Given the description of an element on the screen output the (x, y) to click on. 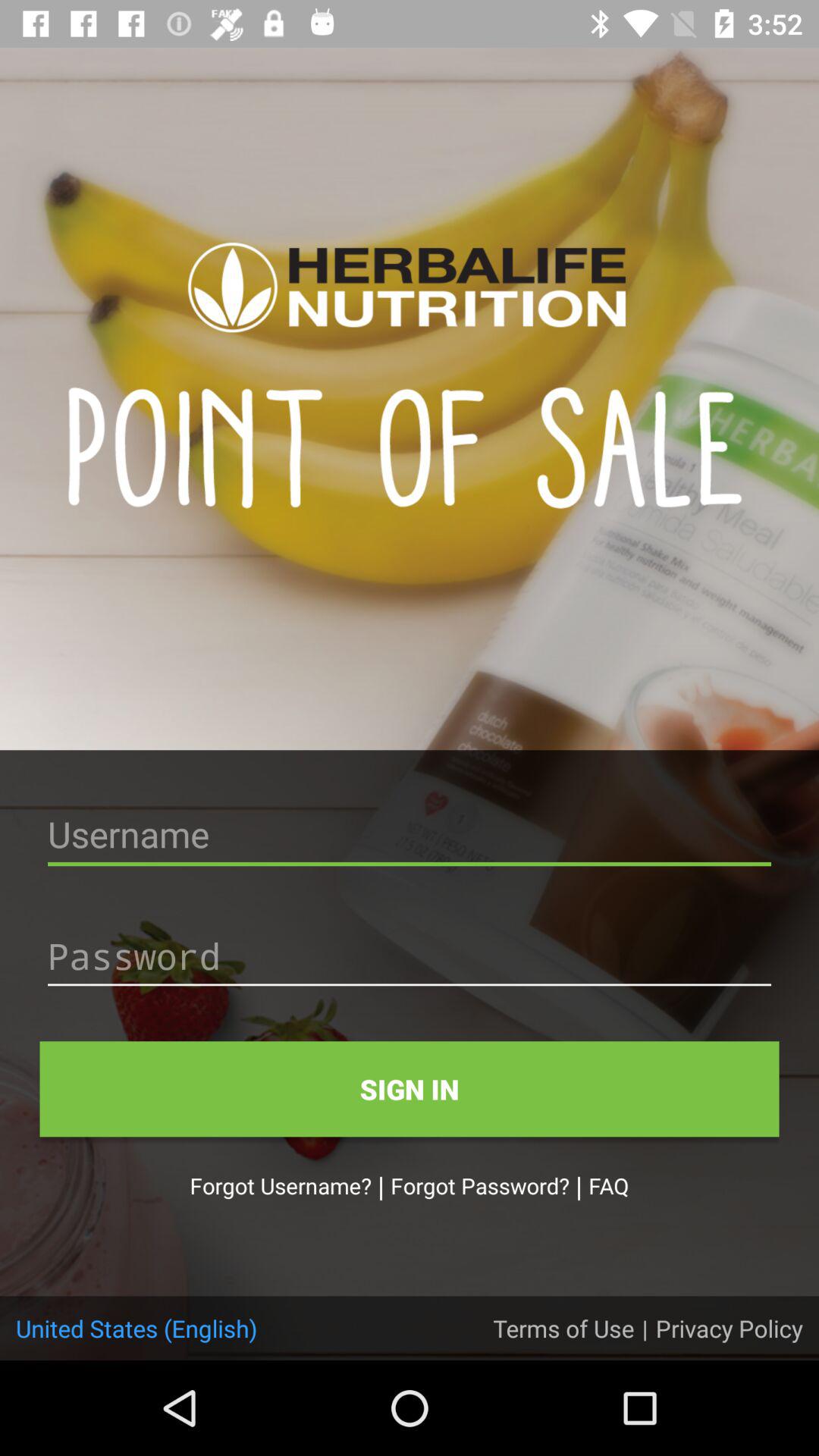
choose the icon below the forgot password? item (563, 1328)
